Given the description of an element on the screen output the (x, y) to click on. 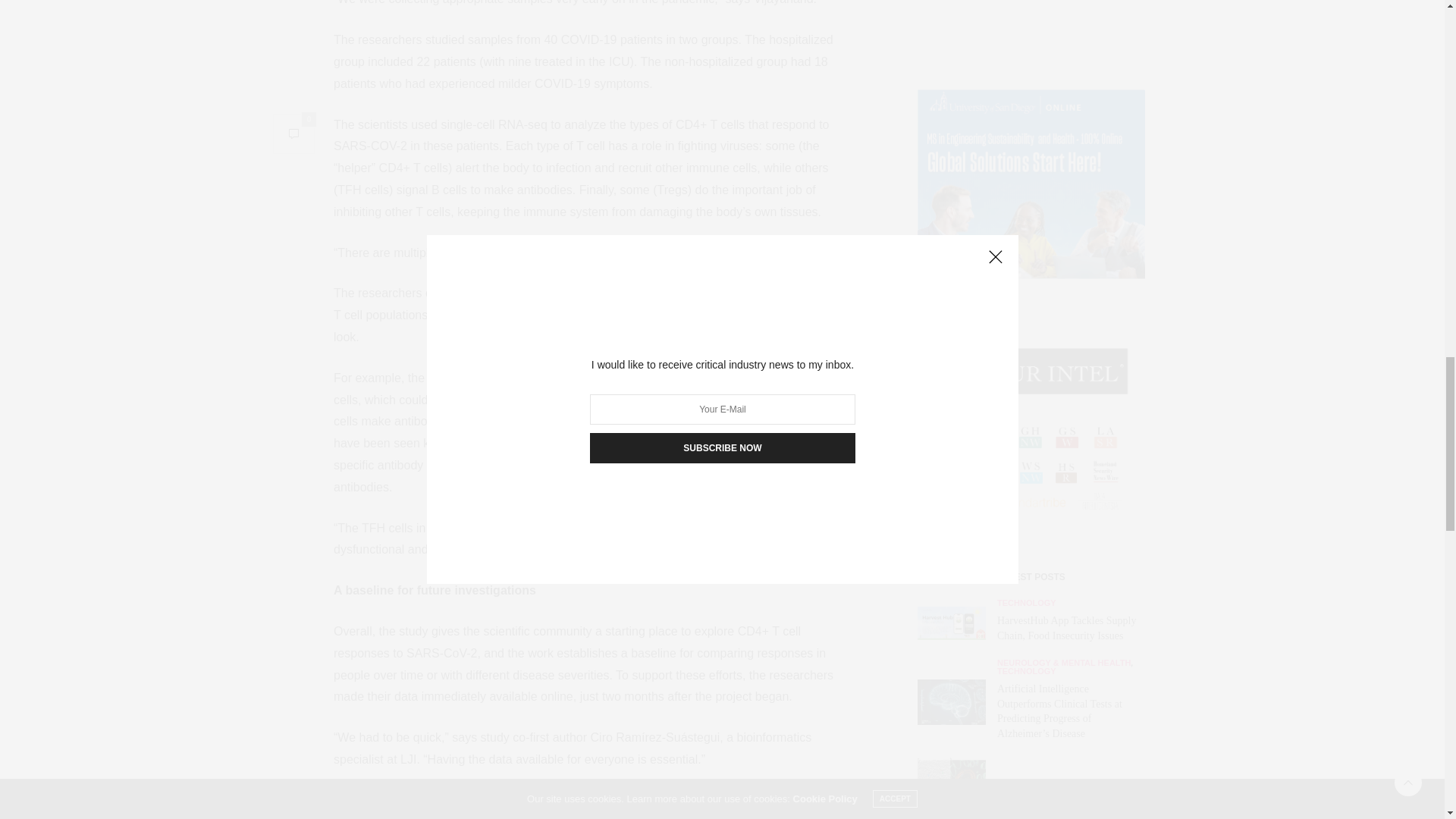
SUBMIT (1030, 210)
